Given the description of an element on the screen output the (x, y) to click on. 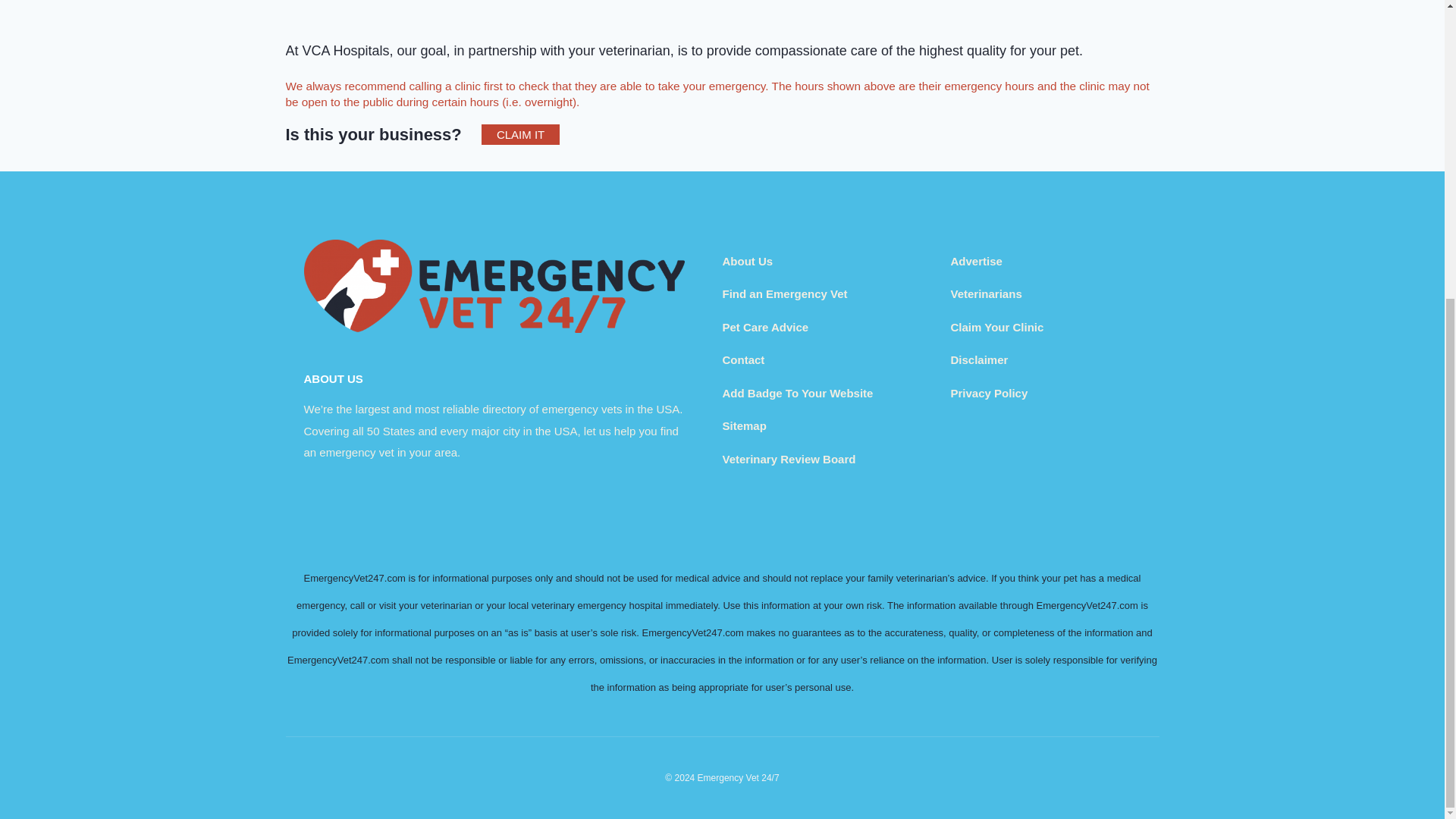
Veterinarians (986, 293)
Veterinary Review Board (789, 459)
Claim Your Clinic (996, 327)
Add Badge To Your Website (797, 392)
Disclaimer (979, 359)
Contact (743, 359)
Find an Emergency Vet (784, 293)
About Us (747, 260)
Pet Care Advice (765, 327)
Privacy Policy (988, 392)
